Given the description of an element on the screen output the (x, y) to click on. 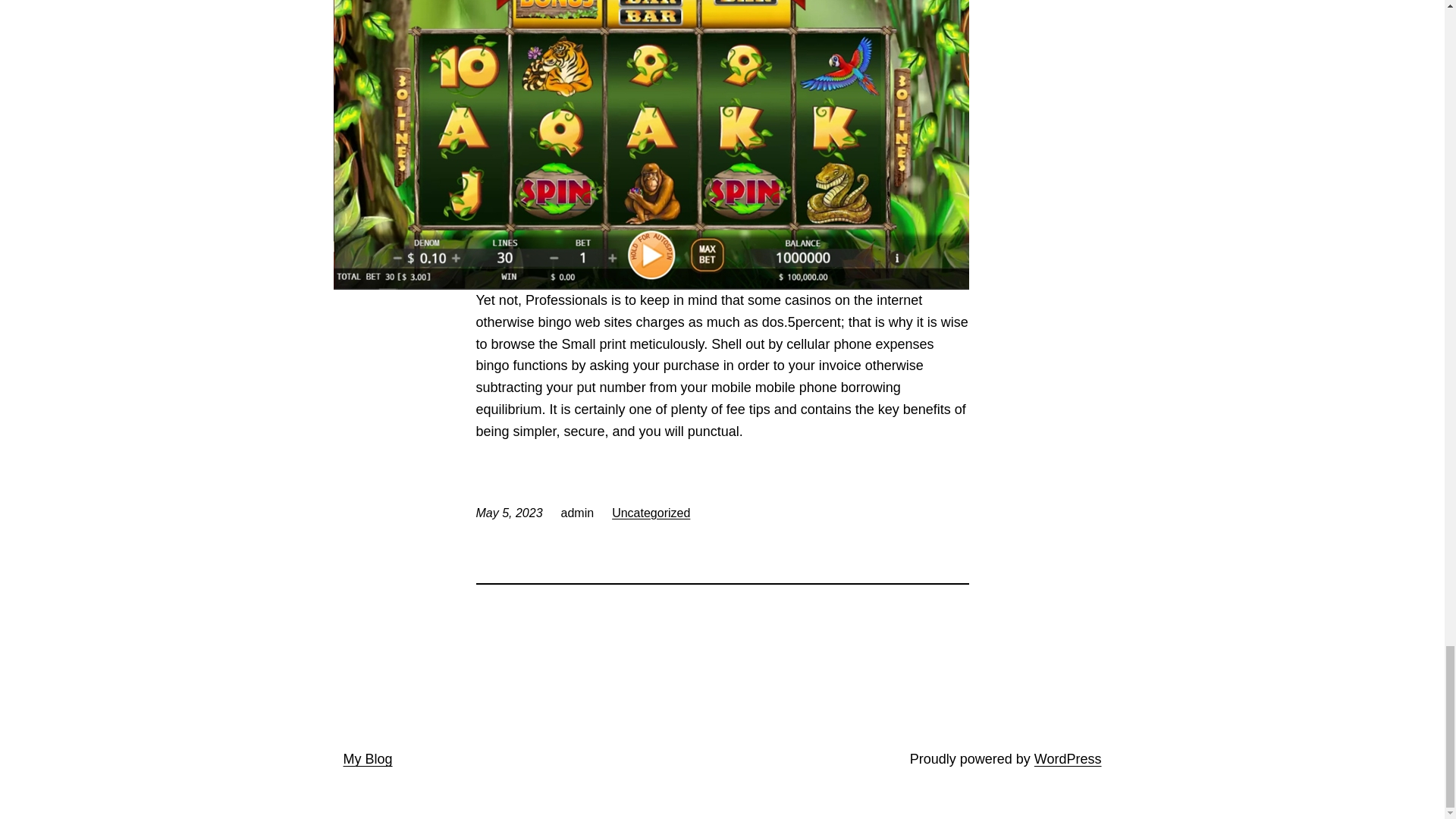
Uncategorized (650, 512)
WordPress (1067, 758)
My Blog (366, 758)
